Given the description of an element on the screen output the (x, y) to click on. 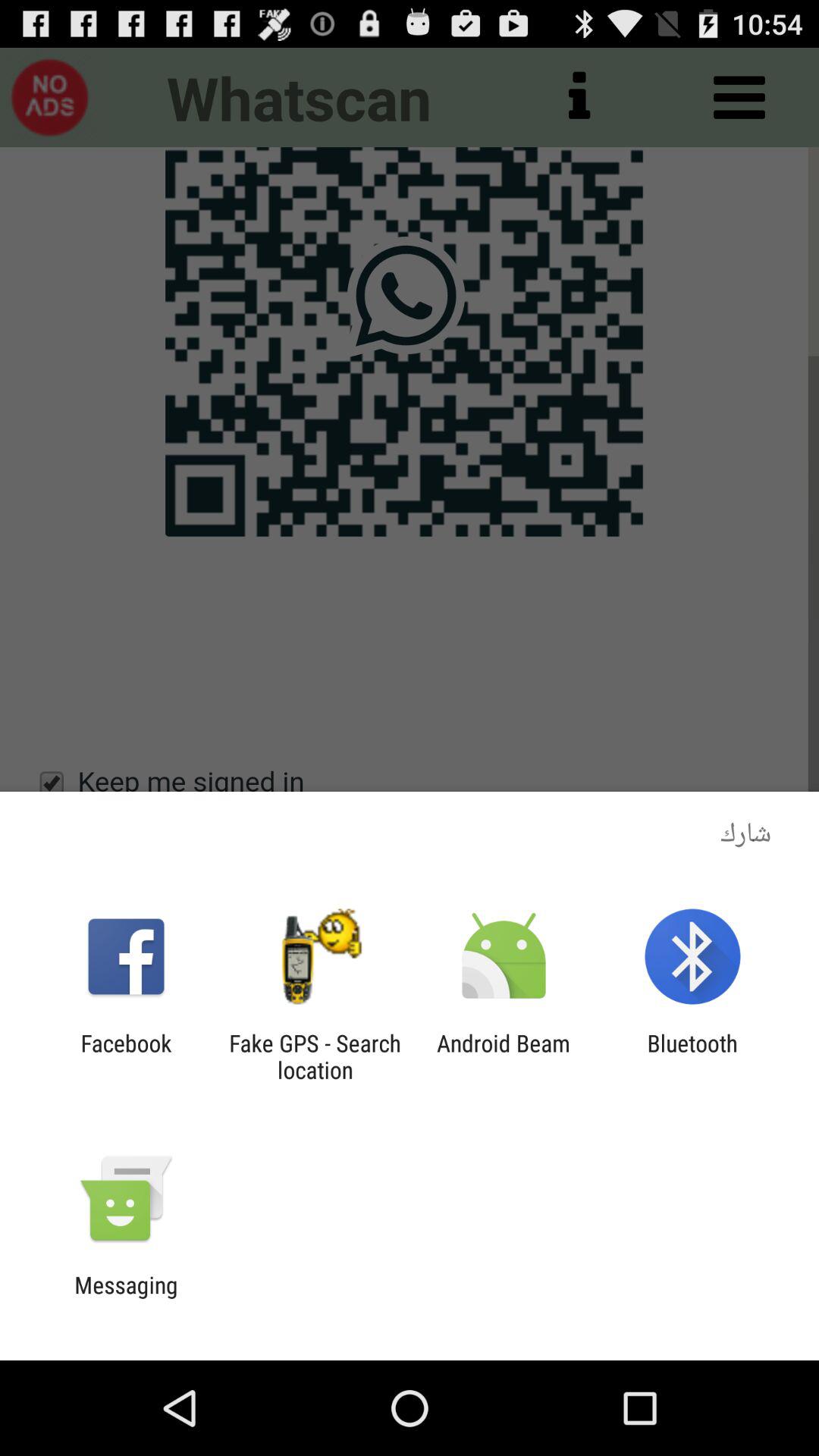
scroll until android beam item (503, 1056)
